Given the description of an element on the screen output the (x, y) to click on. 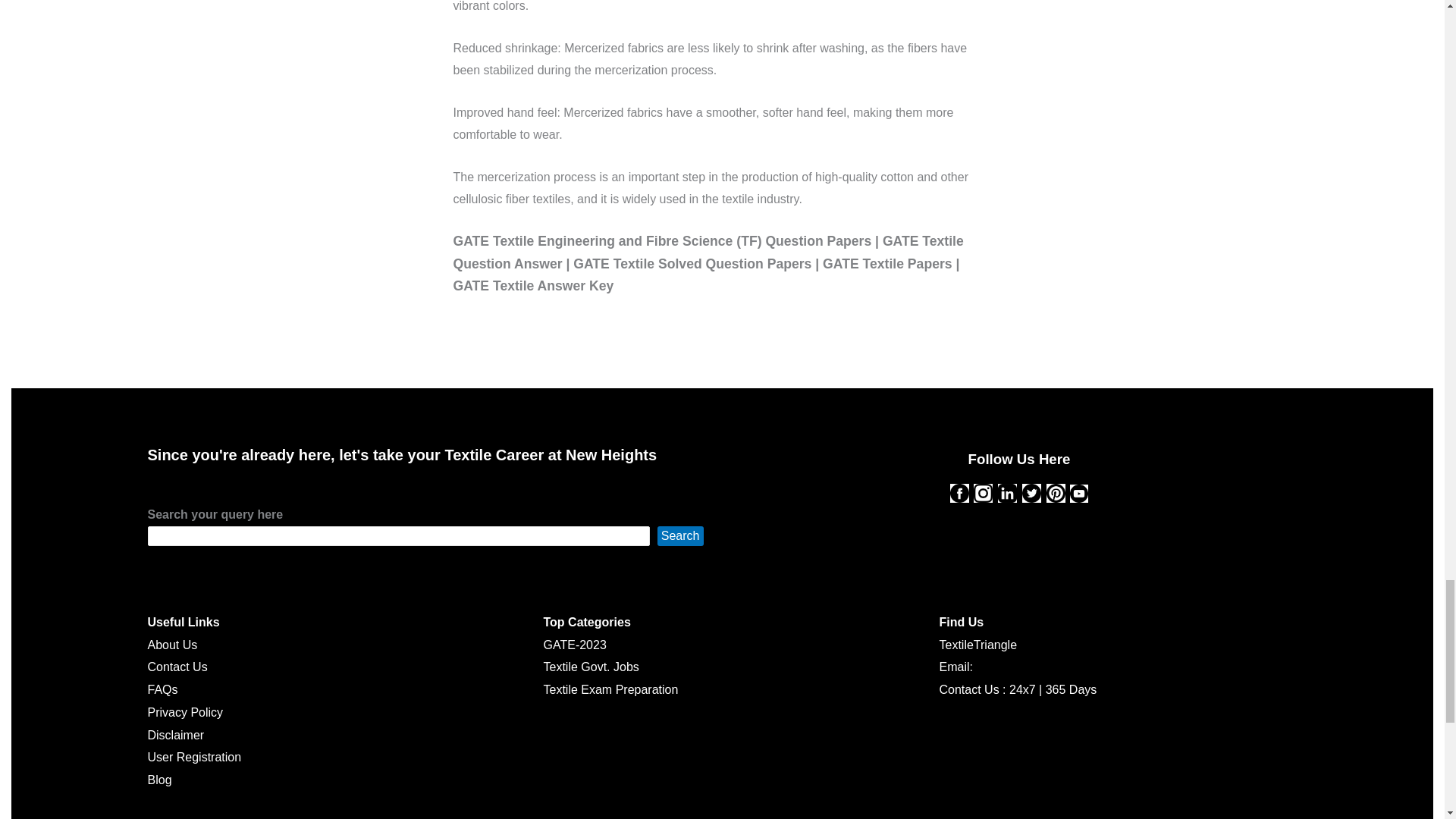
About Us (171, 644)
Blog (159, 779)
GATE-2023 (574, 644)
Disclaimer (175, 735)
Privacy Policy (184, 712)
Search (680, 536)
Contact Us (176, 666)
FAQs (162, 689)
Textile Govt. Jobs (591, 666)
